Given the description of an element on the screen output the (x, y) to click on. 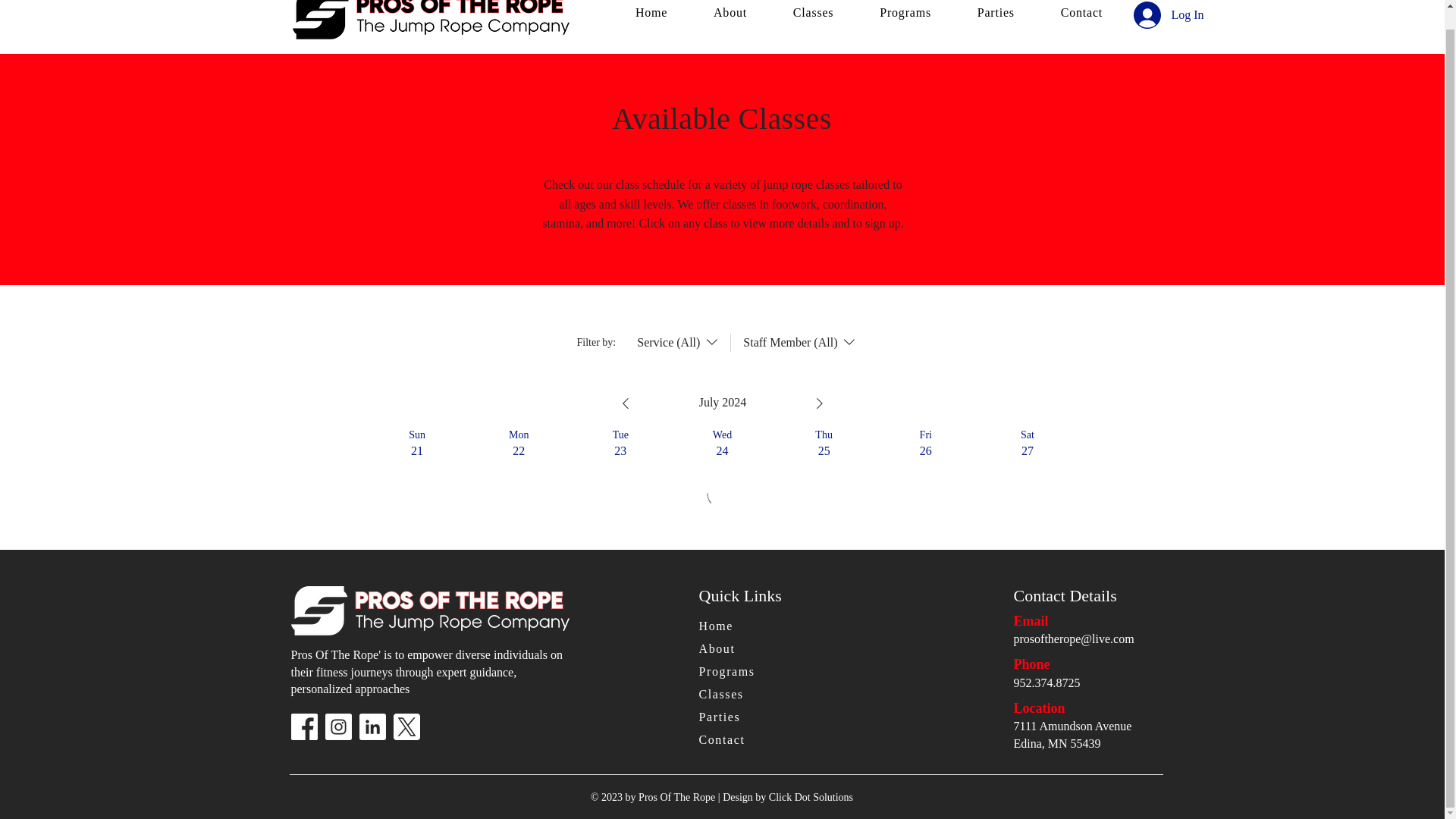
Parties (747, 717)
Parties (994, 13)
952.374.8725 (1046, 682)
Programs (747, 671)
About (747, 649)
Contact (747, 740)
Contact (1081, 13)
Classes (813, 13)
Click Dot Solutions (810, 797)
Programs (906, 13)
Home (651, 13)
Log In (1144, 16)
About (730, 13)
Classes (747, 694)
Home (747, 626)
